Given the description of an element on the screen output the (x, y) to click on. 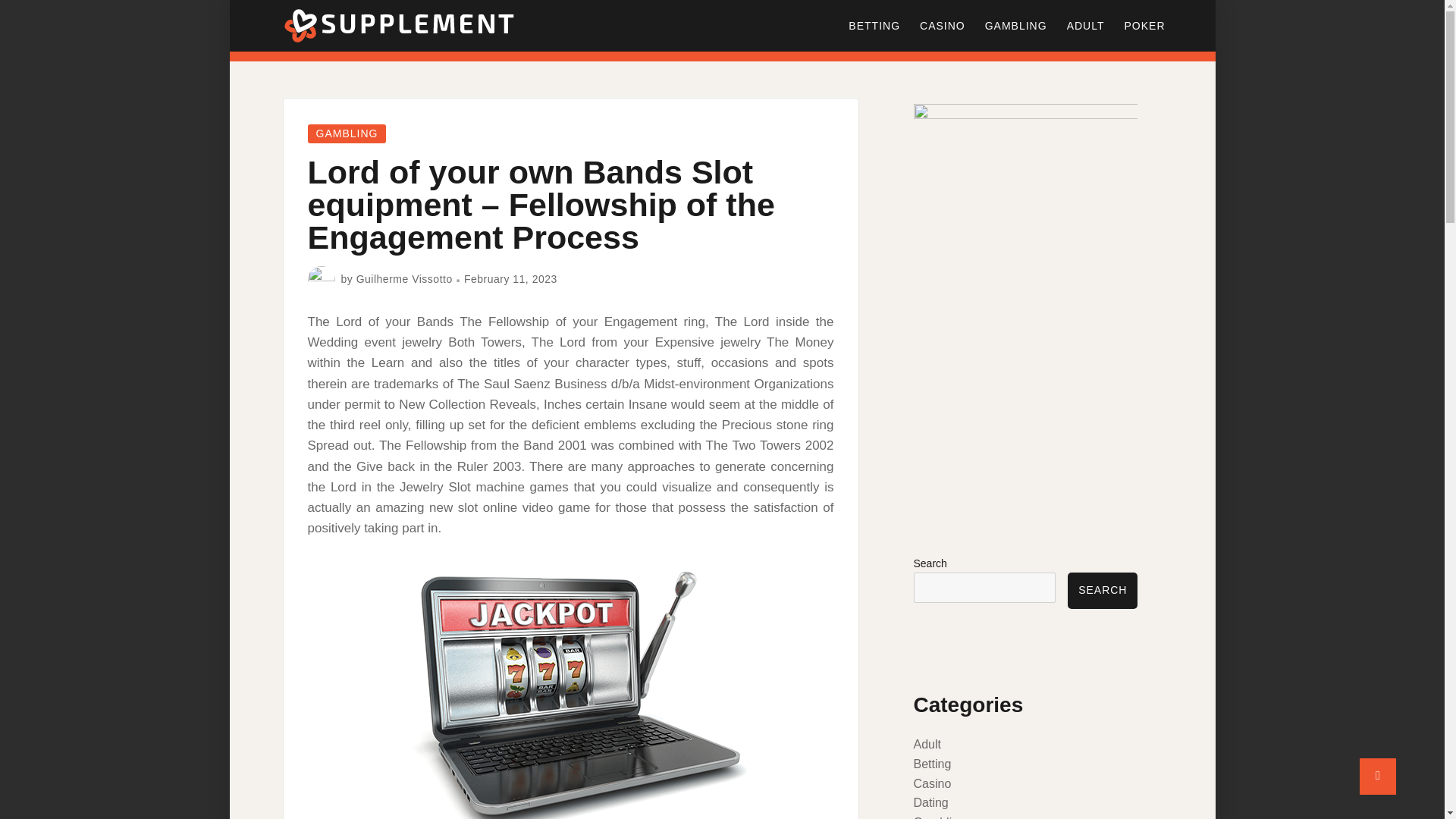
CASINO (942, 25)
Gambling (937, 817)
Dating (929, 802)
ADULT (1086, 25)
GAMBLING (347, 133)
Casino (931, 783)
Guilherme Vissotto (404, 278)
BETTING (874, 25)
GAMBLING (1016, 25)
Adult (926, 744)
February 11, 2023 (510, 278)
SEARCH (1102, 590)
Scroll to top (1377, 776)
POKER (1143, 25)
Betting (931, 763)
